Given the description of an element on the screen output the (x, y) to click on. 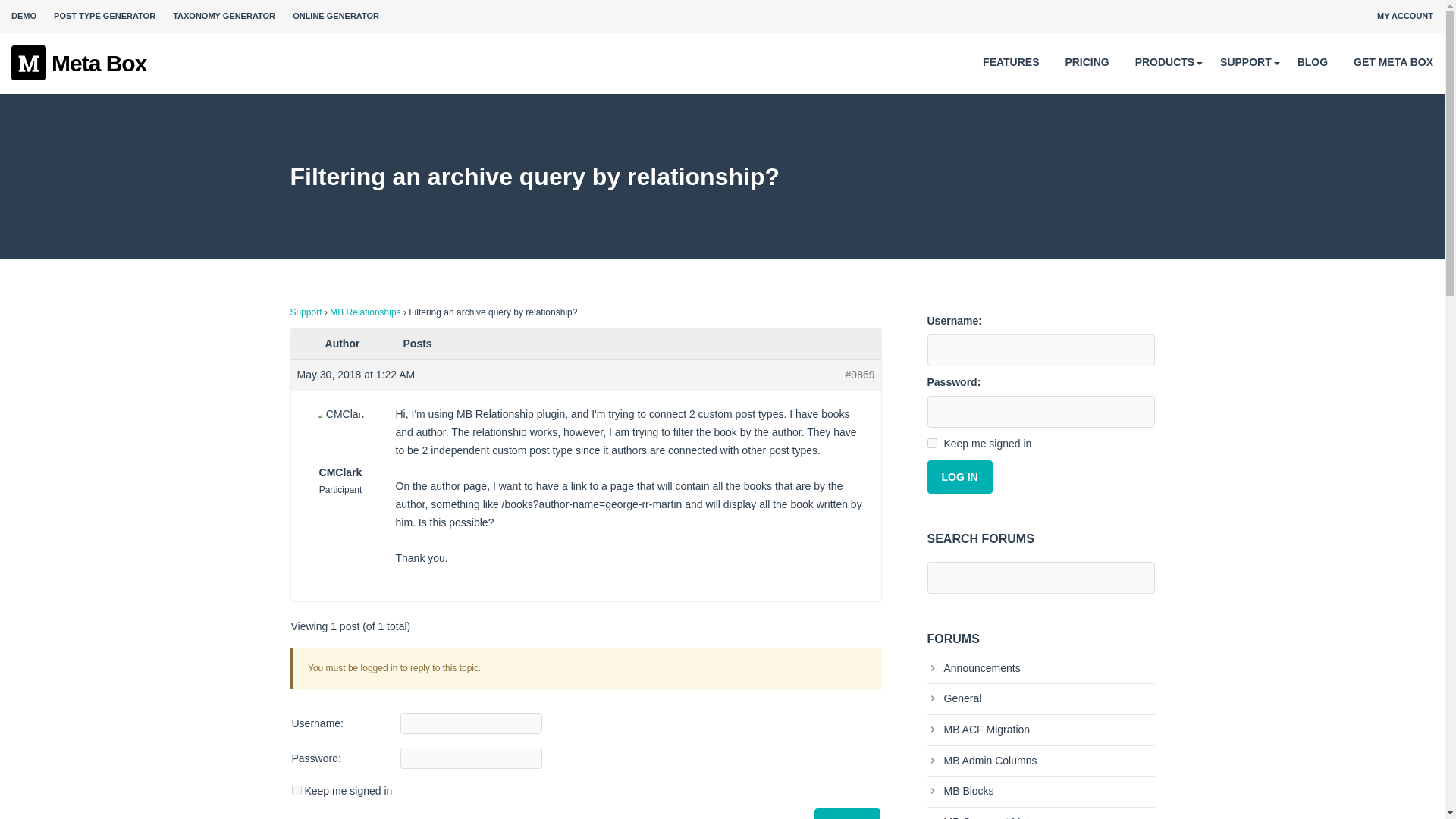
Announcements (973, 667)
SUPPORT (1245, 62)
Meta Box (79, 63)
CMClark (340, 442)
FEATURES (1010, 62)
General (953, 698)
LOG IN (846, 813)
PRICING (1086, 62)
BLOG (1312, 62)
forever (931, 442)
